Given the description of an element on the screen output the (x, y) to click on. 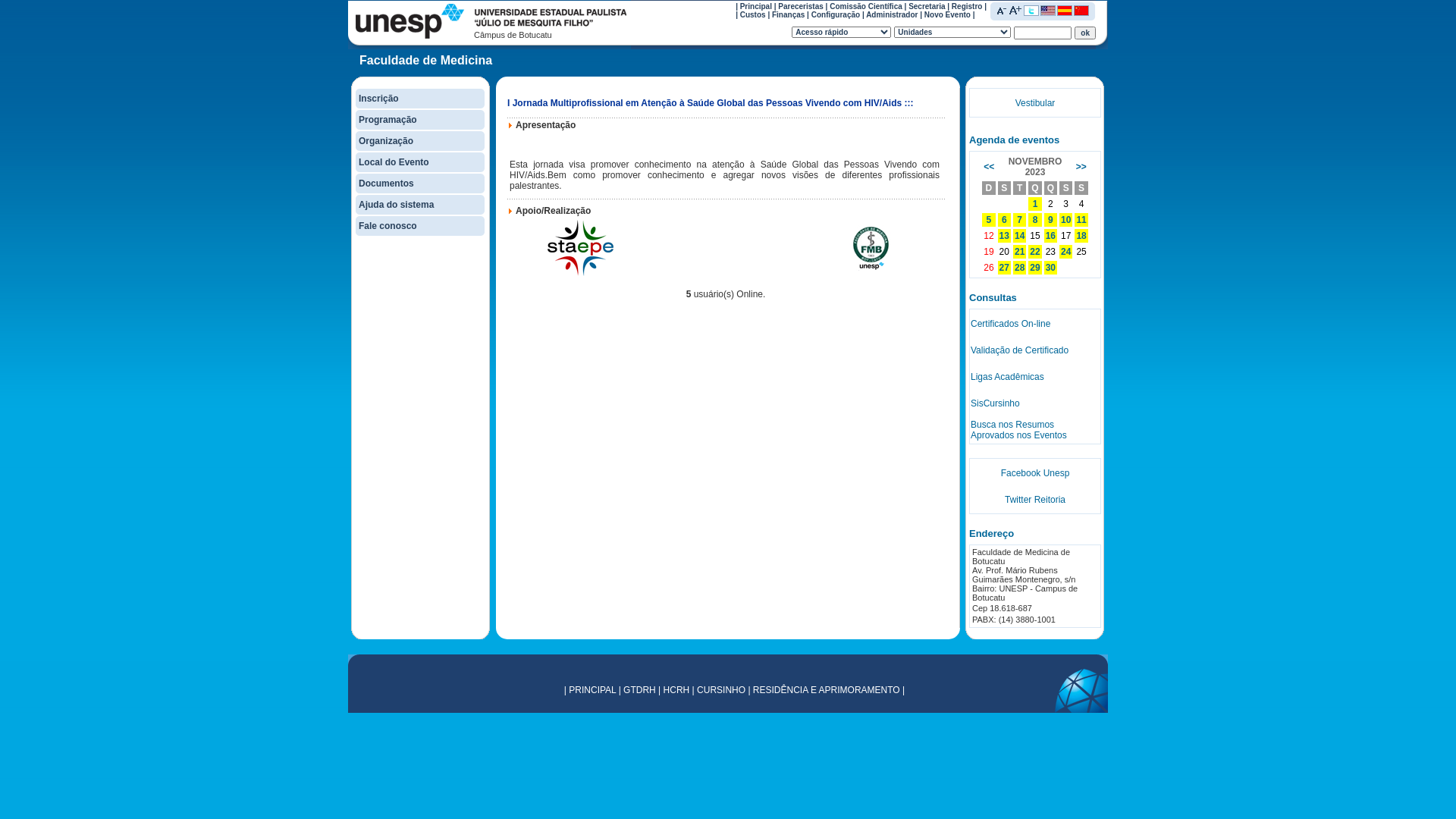
<< Element type: text (988, 166)
1 Element type: text (1035, 203)
HCRH Element type: text (676, 689)
8 Element type: text (1035, 219)
Secretaria Element type: text (926, 5)
SisCursinho Element type: text (994, 402)
Twitter Reitoria Element type: text (1034, 499)
Local do Evento Element type: text (393, 161)
>> Element type: text (1081, 166)
Registro Element type: text (966, 5)
30 Element type: text (1050, 267)
14 Element type: text (1019, 235)
18 Element type: text (1080, 235)
Administrador Element type: text (891, 14)
13 Element type: text (1004, 235)
11 Element type: text (1080, 219)
aumentar fonte Element type: hover (1015, 9)
16 Element type: text (1050, 235)
Facebook Unesp Element type: text (1035, 472)
21 Element type: text (1019, 251)
Ajuda do sistema Element type: text (395, 204)
Certificados On-line Element type: text (1010, 323)
Pareceristas Element type: text (800, 5)
ok Element type: text (1084, 31)
Documentos Element type: text (386, 183)
9 Element type: text (1050, 219)
22 Element type: text (1034, 251)
Fale conosco Element type: text (387, 225)
7 Element type: text (1019, 219)
diminuir fonte Element type: hover (1001, 9)
Busca nos Resumos Aprovados nos Eventos Element type: text (1018, 428)
CURSINHO Element type: text (720, 689)
Vestibular Element type: text (1035, 102)
6 Element type: text (1004, 219)
29 Element type: text (1034, 267)
28 Element type: text (1019, 267)
5 Element type: text (988, 219)
Custos Element type: text (752, 14)
Principal Element type: text (755, 5)
27 Element type: text (1004, 267)
24 Element type: text (1065, 251)
10 Element type: text (1065, 219)
Novo Evento Element type: text (947, 14)
GTDRH Element type: text (639, 689)
PRINCIPAL Element type: text (591, 689)
